Given the description of an element on the screen output the (x, y) to click on. 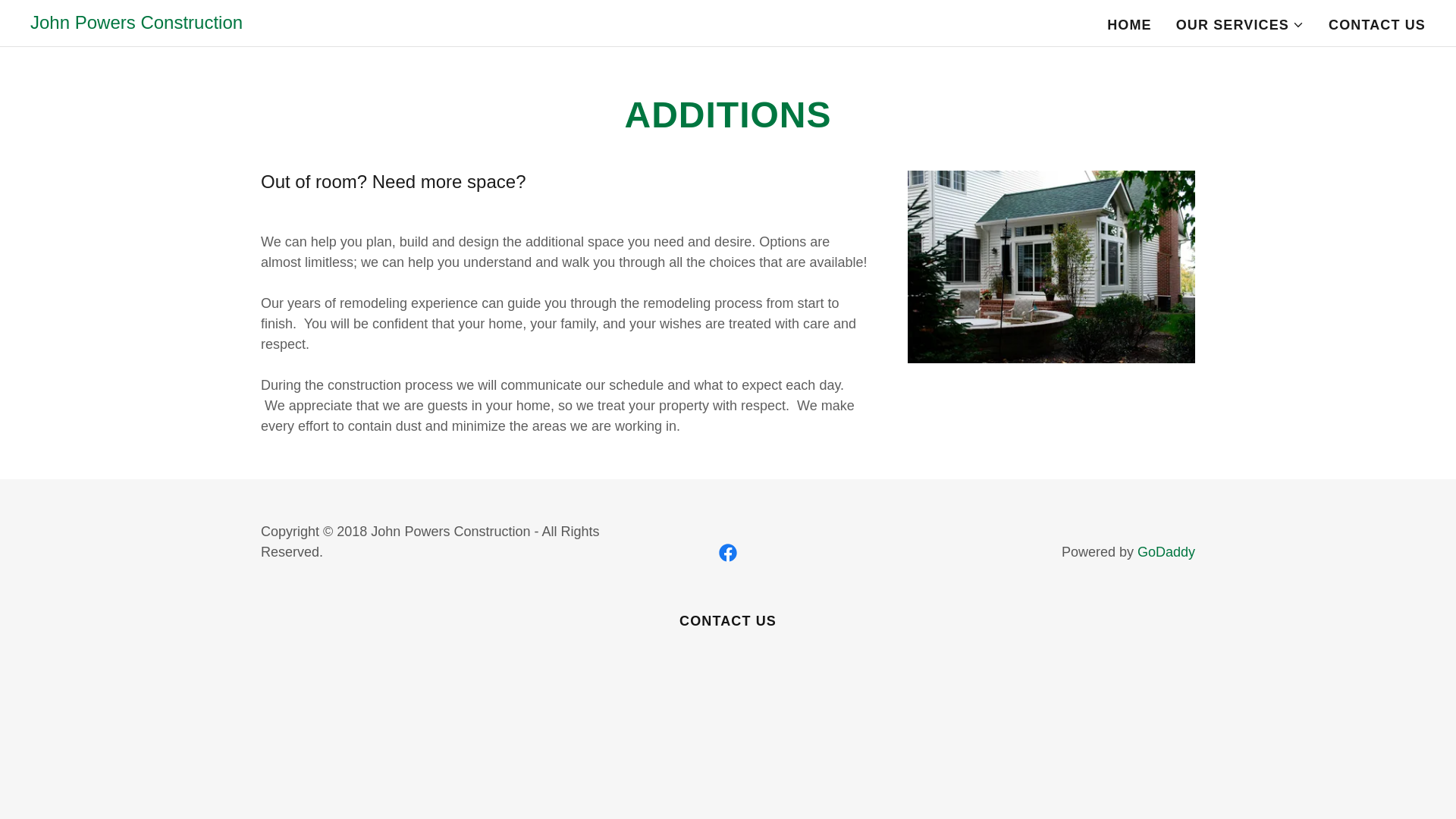
John Powers Construction (136, 23)
John Powers Construction (136, 23)
CONTACT US (1376, 24)
OUR SERVICES (1240, 24)
HOME (1129, 24)
